Given the description of an element on the screen output the (x, y) to click on. 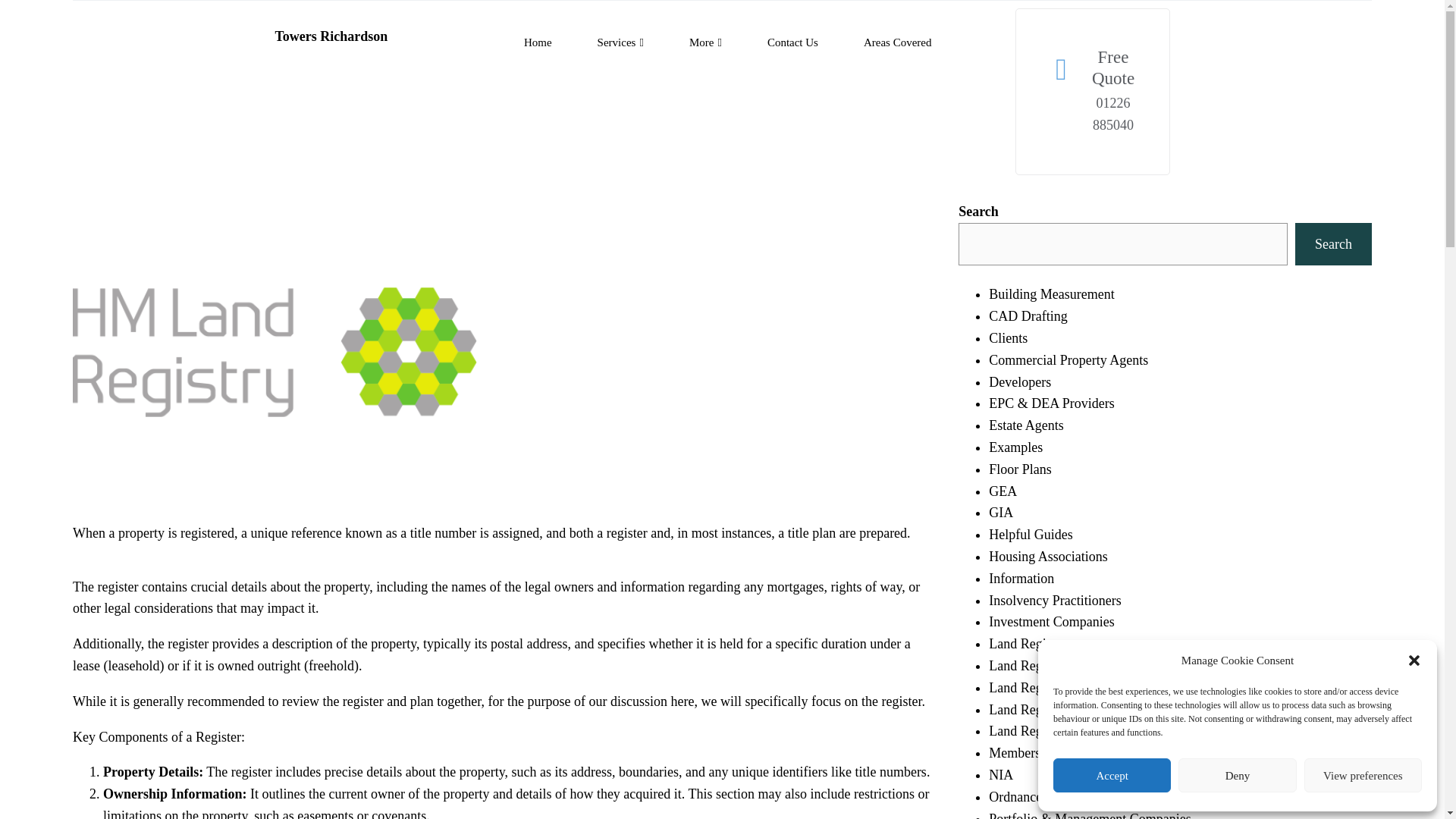
Areas Covered (898, 41)
Contact Us (792, 41)
Accept (1111, 775)
CAD Drafting (1027, 315)
Deny (1236, 775)
Building Measurement (1050, 294)
Towers Richardson (331, 36)
Home (537, 41)
Clients (1007, 337)
Search (1333, 244)
Services (620, 41)
View preferences (1363, 775)
More (705, 41)
